Given the description of an element on the screen output the (x, y) to click on. 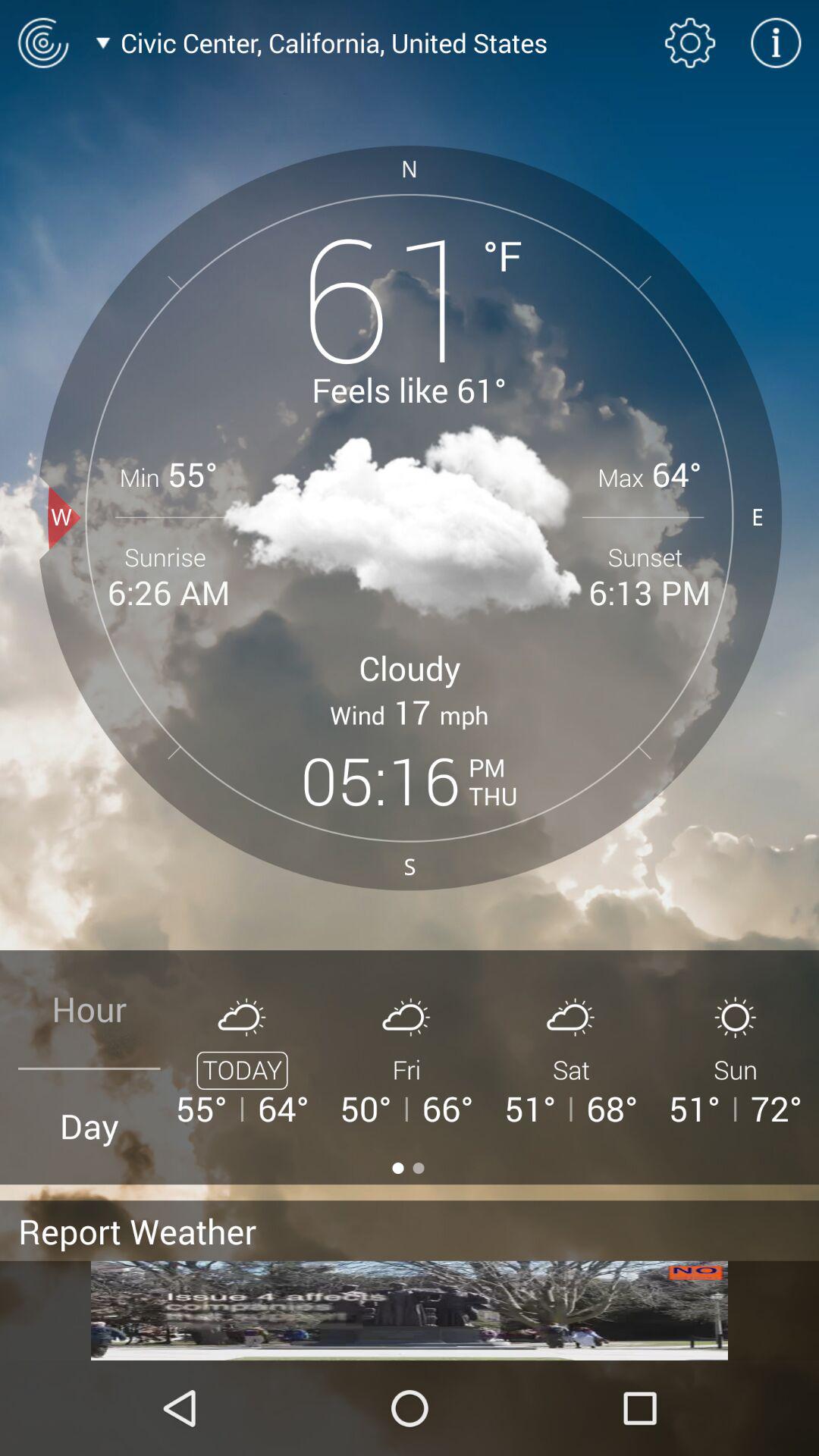
go to radar (42, 42)
